Given the description of an element on the screen output the (x, y) to click on. 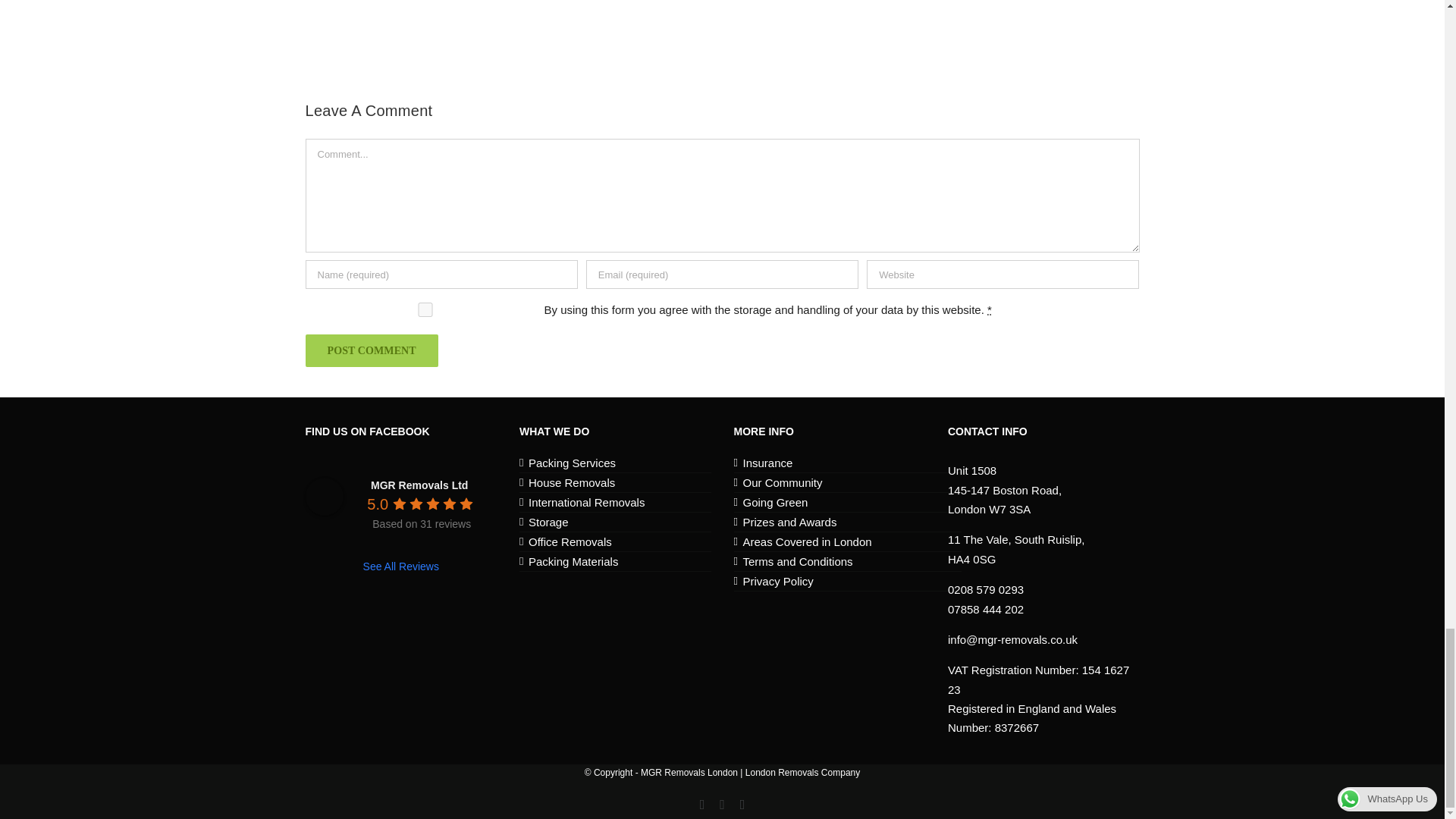
Post Comment (371, 350)
1 (424, 309)
